Given the description of an element on the screen output the (x, y) to click on. 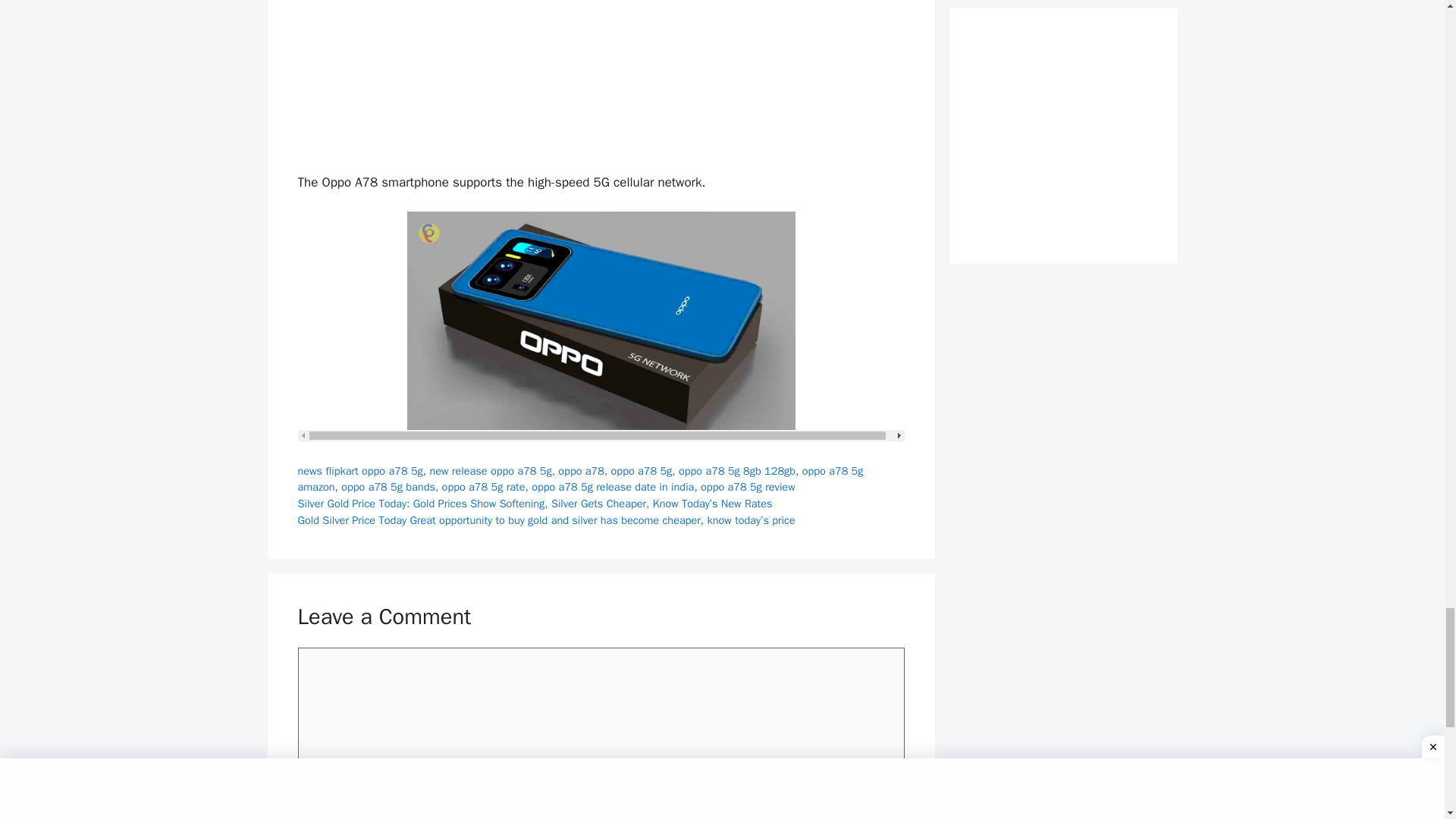
oppo a78 5g amazon (580, 479)
oppo a78 5g (641, 470)
news (309, 470)
oppo a78 5g review (747, 486)
oppo a78 (580, 470)
new release oppo a78 5g (490, 470)
oppo a78 5g 8gb 128gb (736, 470)
oppo a78 5g release date in india (612, 486)
oppo a78 5g rate (483, 486)
oppo a78 5g bands (387, 486)
flipkart oppo a78 5g (373, 470)
